Given the description of an element on the screen output the (x, y) to click on. 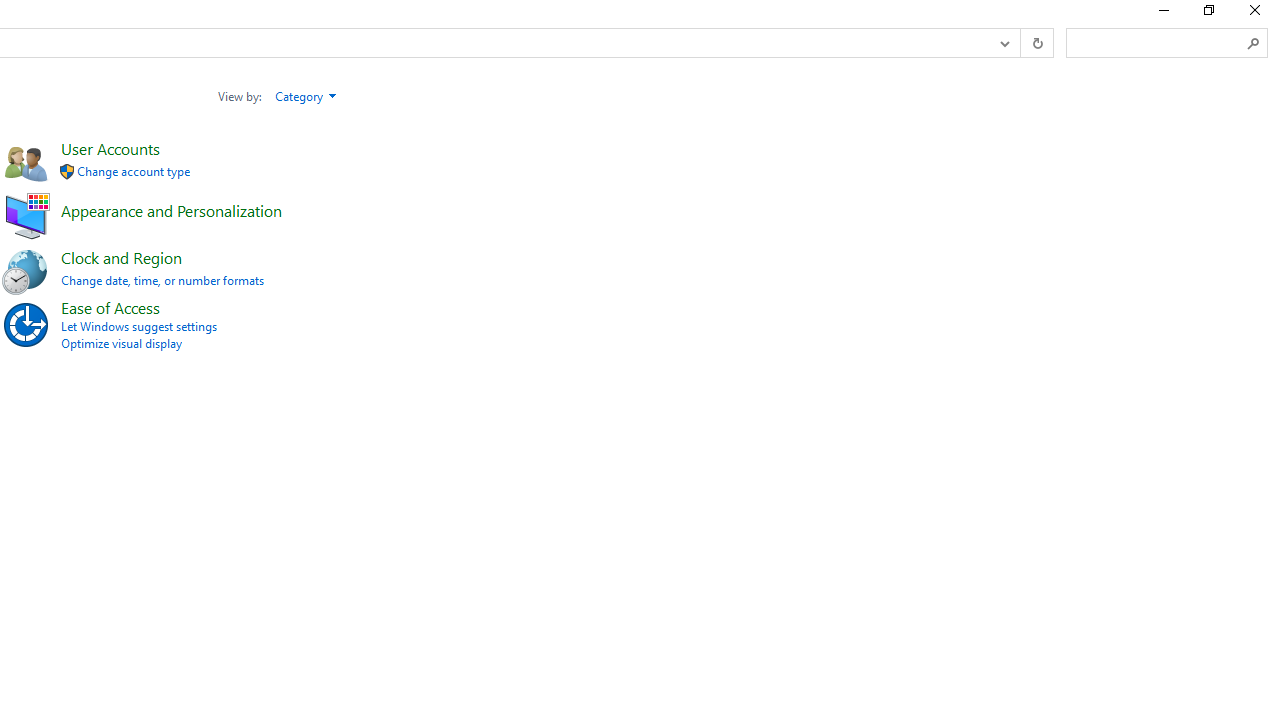
Previous Locations (1003, 43)
Let Windows suggest settings (138, 326)
Search Box (1156, 42)
Address band toolbar (1019, 43)
Appearance and Personalization (171, 210)
Restore (1208, 14)
Search (1253, 43)
Icon (66, 172)
Refresh "Control Panel" (F5) (1036, 43)
Category (305, 96)
Ease of Access (110, 307)
Change date, time, or number formats (162, 280)
Optimize visual display (121, 343)
Change account type (133, 171)
Clock and Region (121, 256)
